Given the description of an element on the screen output the (x, y) to click on. 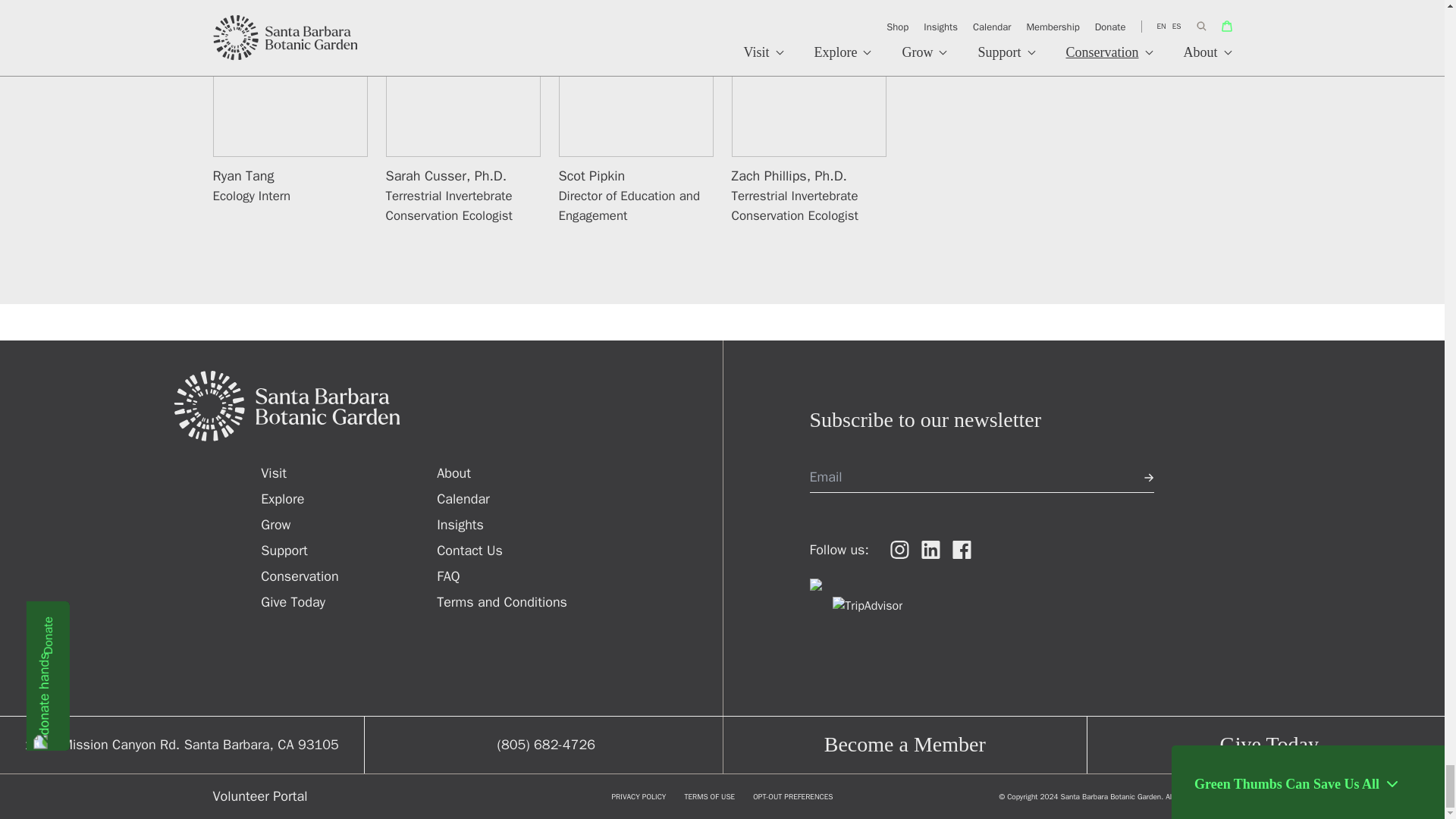
Follow us on Instagram (898, 549)
Scot Pipkin (590, 175)
sbbg address (182, 744)
Follow us on LinkedIn (930, 549)
sbbg phone number (546, 744)
Zach Phillips, Ph.D. (787, 175)
Santa Barbara Botanic Garden (447, 406)
